Given the description of an element on the screen output the (x, y) to click on. 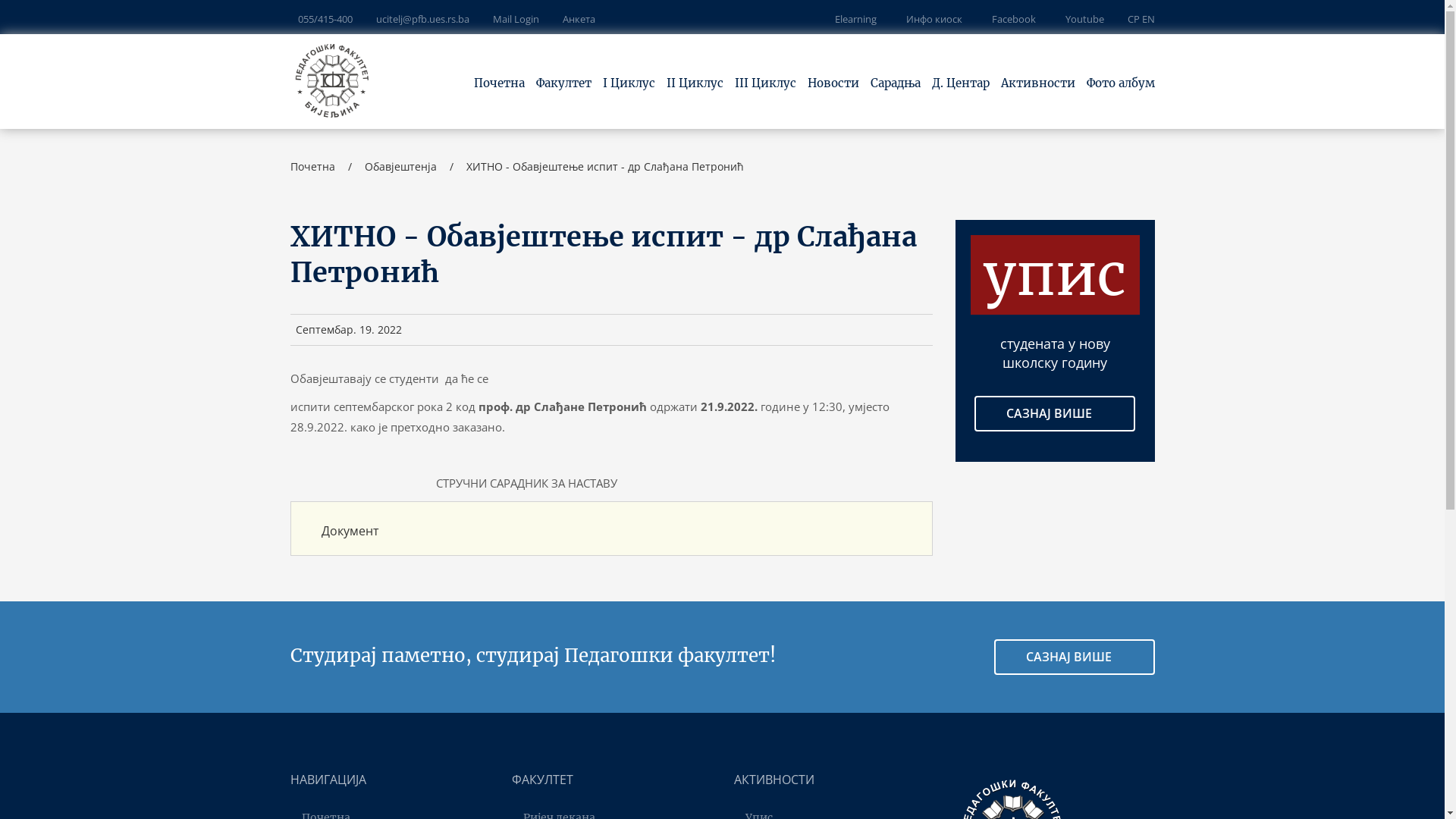
Facebook Element type: text (1010, 18)
Mail Login Element type: text (515, 18)
ucitelj@pfb.ues.rs.ba Element type: text (422, 18)
Youtube Element type: text (1080, 18)
EN Element type: text (1148, 18)
Elearning Element type: text (854, 18)
